Given the description of an element on the screen output the (x, y) to click on. 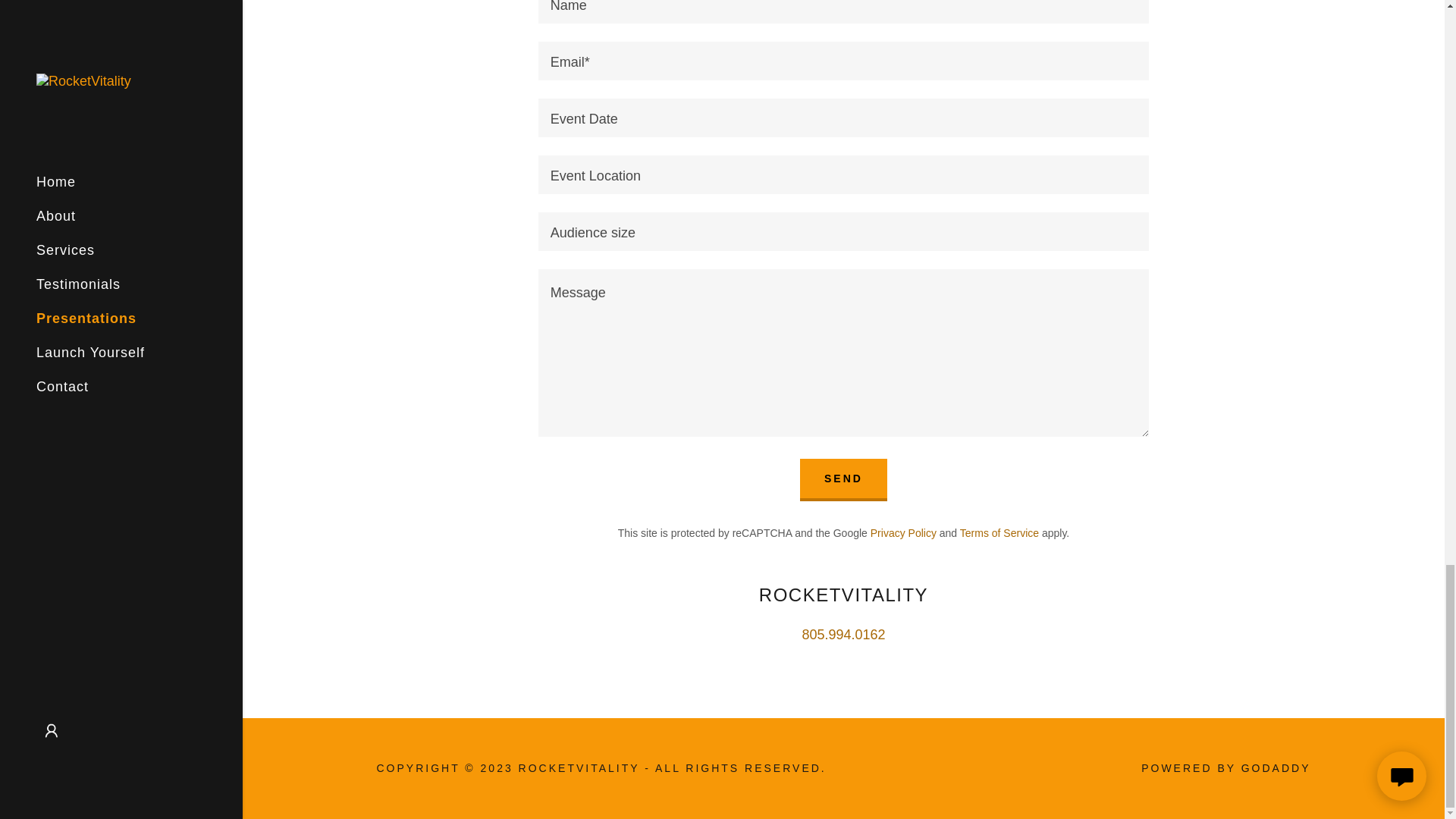
SEND (842, 479)
Privacy Policy (903, 532)
805.994.0162 (843, 634)
Terms of Service (999, 532)
GODADDY (1276, 767)
